Given the description of an element on the screen output the (x, y) to click on. 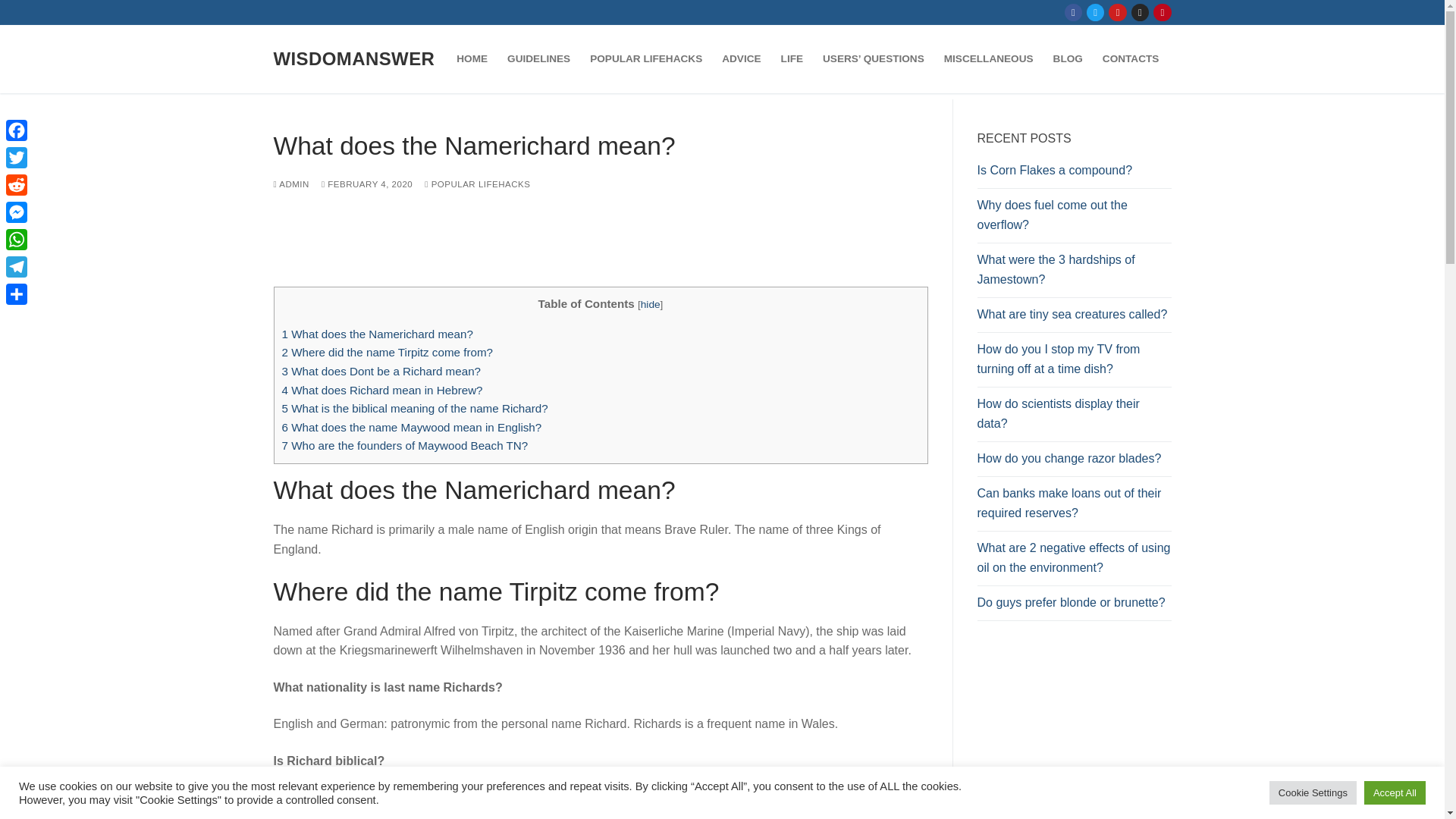
7 Who are the founders of Maywood Beach TN? (405, 445)
Youtube (1117, 12)
ADMIN (290, 184)
1 What does the Namerichard mean? (377, 333)
BLOG (1068, 59)
FEBRUARY 4, 2020 (366, 184)
2 Where did the name Tirpitz come from? (387, 351)
4 What does Richard mean in Hebrew? (382, 390)
5 What is the biblical meaning of the name Richard? (415, 408)
Facebook (1073, 12)
